Given the description of an element on the screen output the (x, y) to click on. 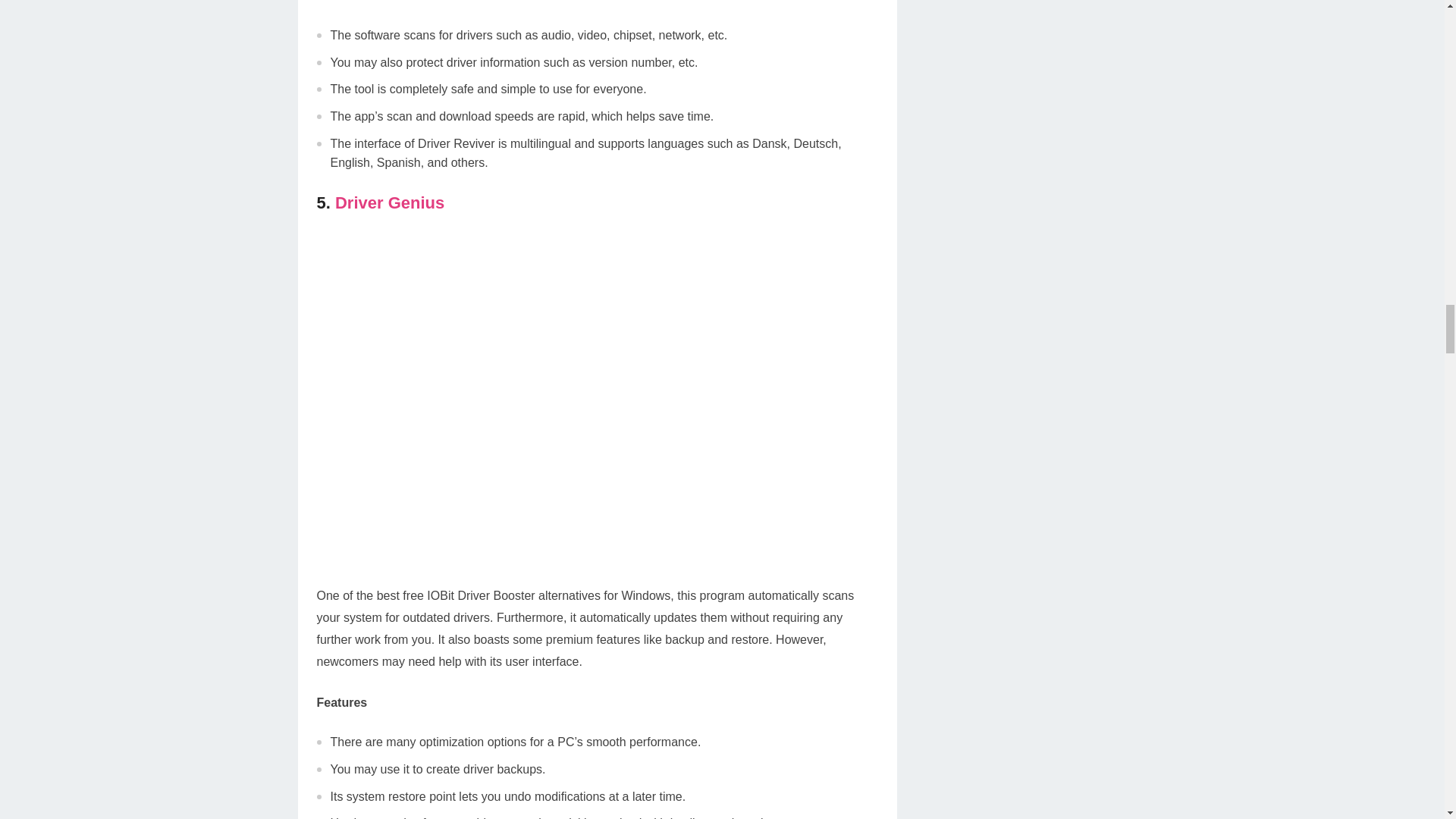
Driver Genius (389, 202)
